Given the description of an element on the screen output the (x, y) to click on. 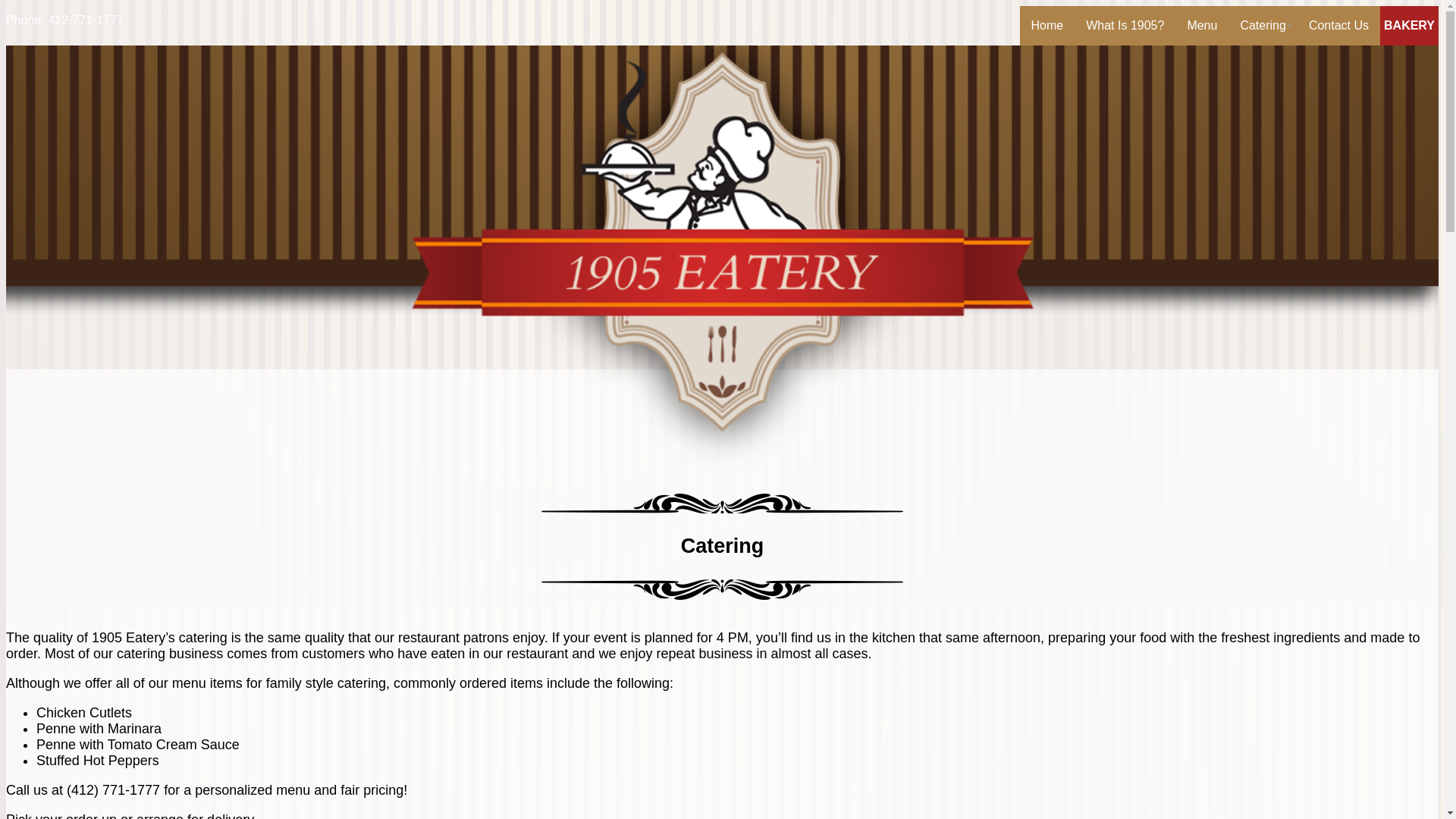
Menu Element type: text (1201, 25)
BAKERY Element type: text (1409, 25)
What Is 1905? Element type: text (1124, 25)
Home Element type: text (1047, 25)
Contact Us Element type: text (1338, 25)
Catering Element type: text (1262, 25)
